Given the description of an element on the screen output the (x, y) to click on. 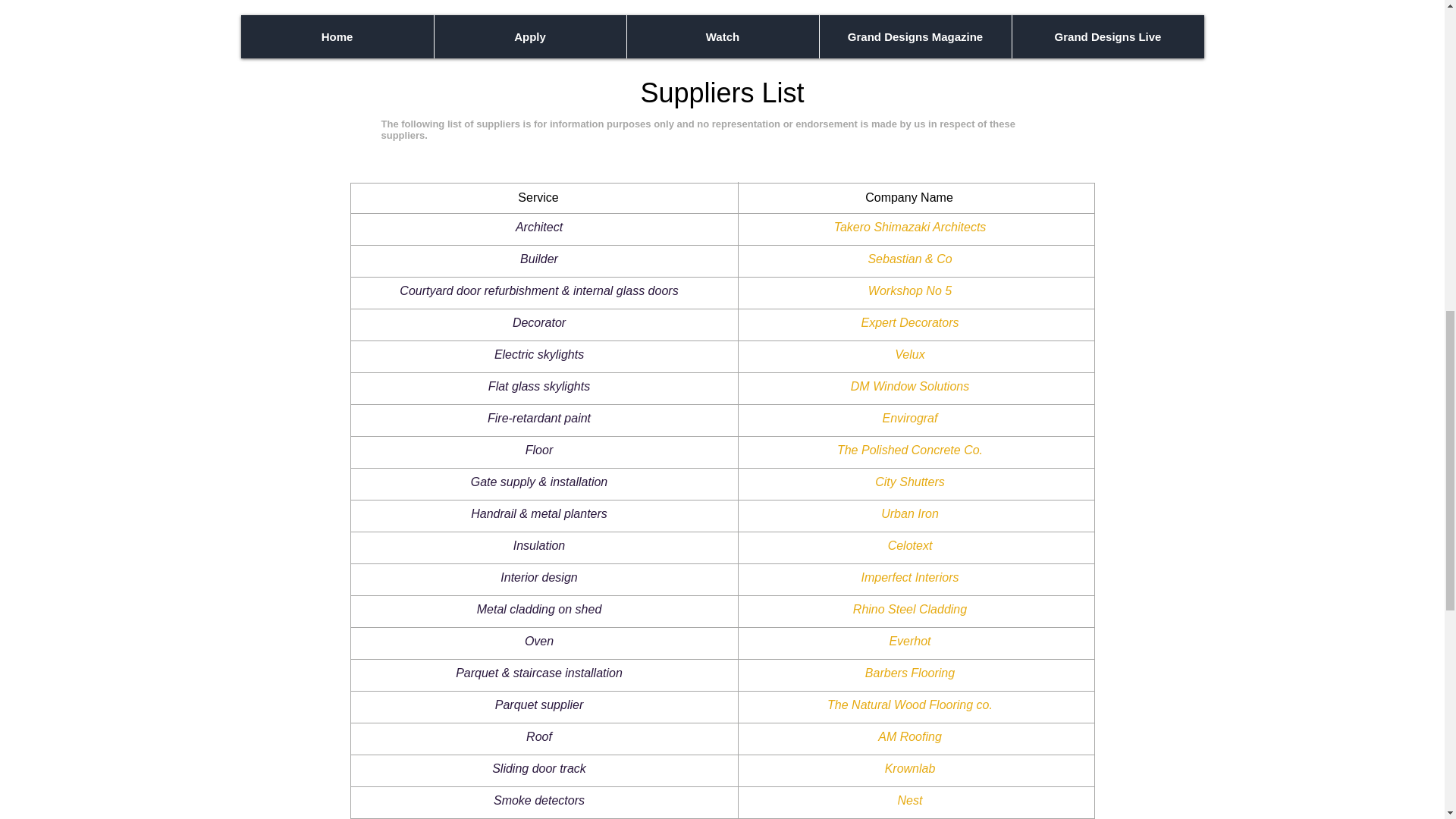
Envirograf (909, 418)
Expert Decorators (910, 322)
Nest (910, 799)
Everhot (909, 640)
The Natural Wood Flooring co. (909, 704)
Rhino Steel Cladding (909, 608)
The Polished Concrete Co. (909, 449)
Imperfect Interiors (910, 576)
Workshop No 5 (909, 290)
City Shutters (909, 481)
Takero Shimazaki Architects (910, 226)
Celotext (910, 545)
Krownlab (910, 768)
DM Window Solutions (909, 386)
AM Roofing (909, 736)
